Given the description of an element on the screen output the (x, y) to click on. 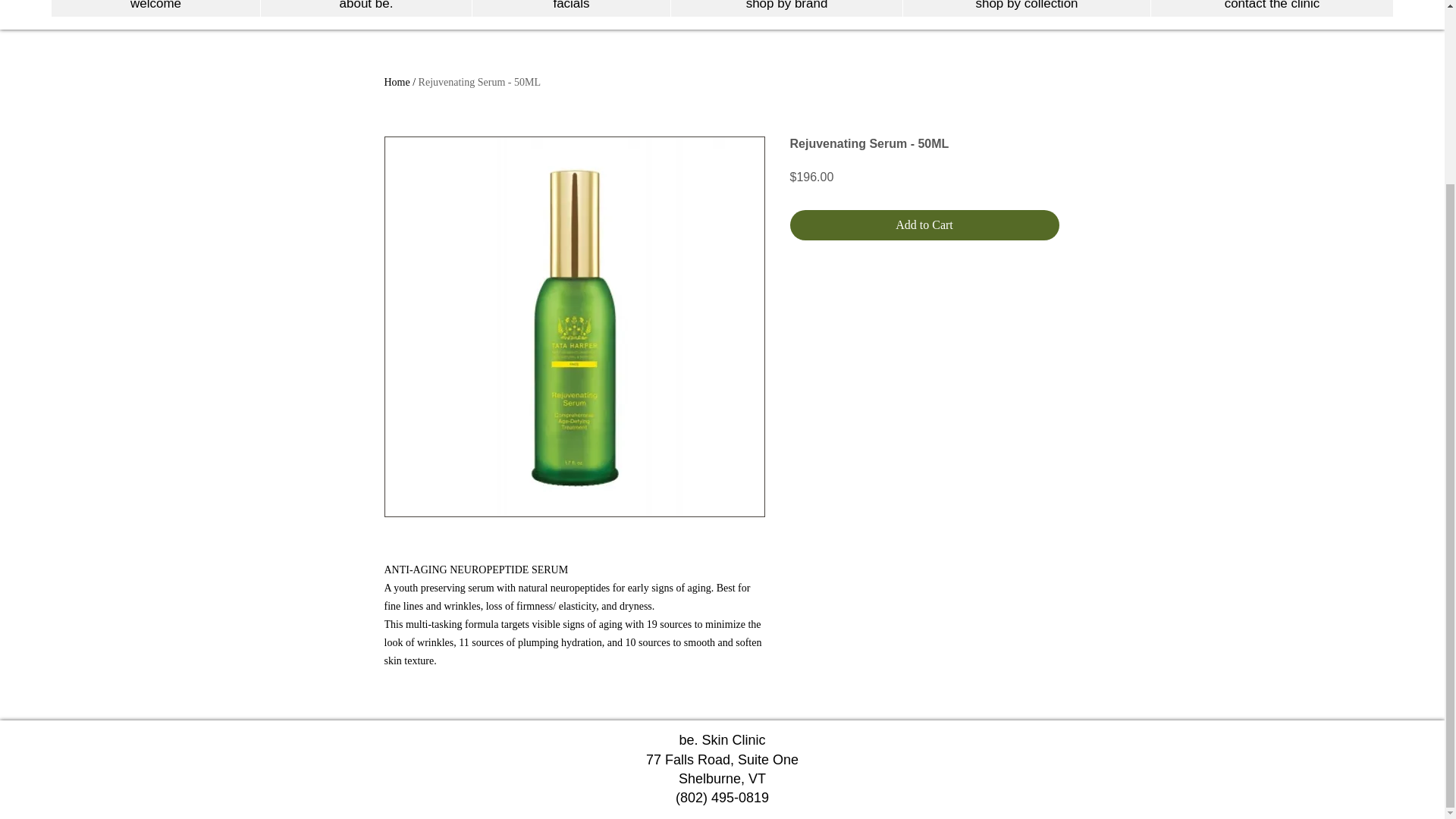
facials (570, 8)
shop by brand (785, 8)
about be. (365, 8)
welcome (155, 8)
shop by collection (1026, 8)
